Given the description of an element on the screen output the (x, y) to click on. 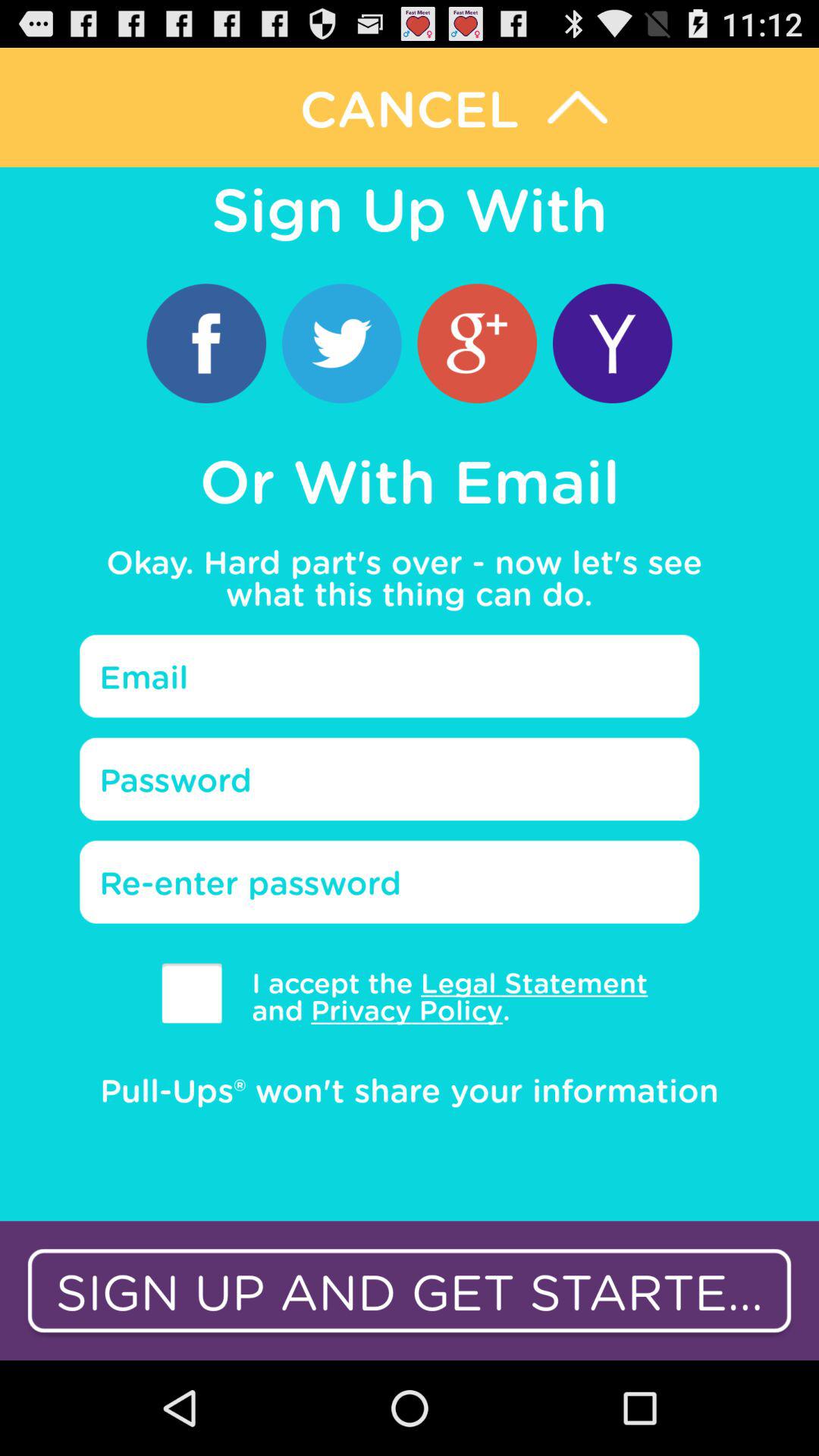
tap the icon at the bottom left corner (191, 993)
